Given the description of an element on the screen output the (x, y) to click on. 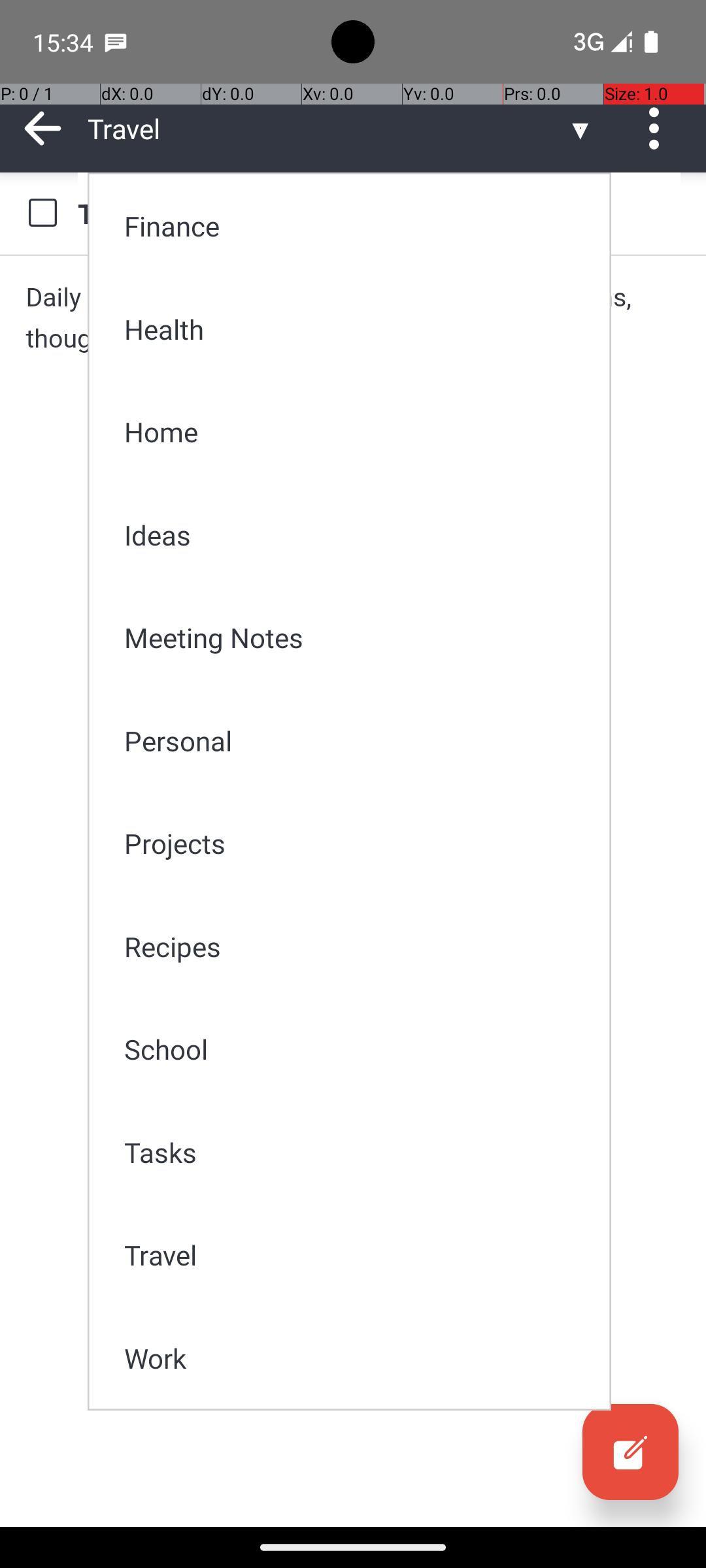
Health Element type: android.widget.TextView (358, 328)
Meeting Notes Element type: android.widget.TextView (358, 636)
Personal Element type: android.widget.TextView (358, 740)
Recipes Element type: android.widget.TextView (358, 945)
School Element type: android.widget.TextView (358, 1048)
Travel Element type: android.widget.TextView (358, 1254)
Work Element type: android.widget.TextView (358, 1357)
